Given the description of an element on the screen output the (x, y) to click on. 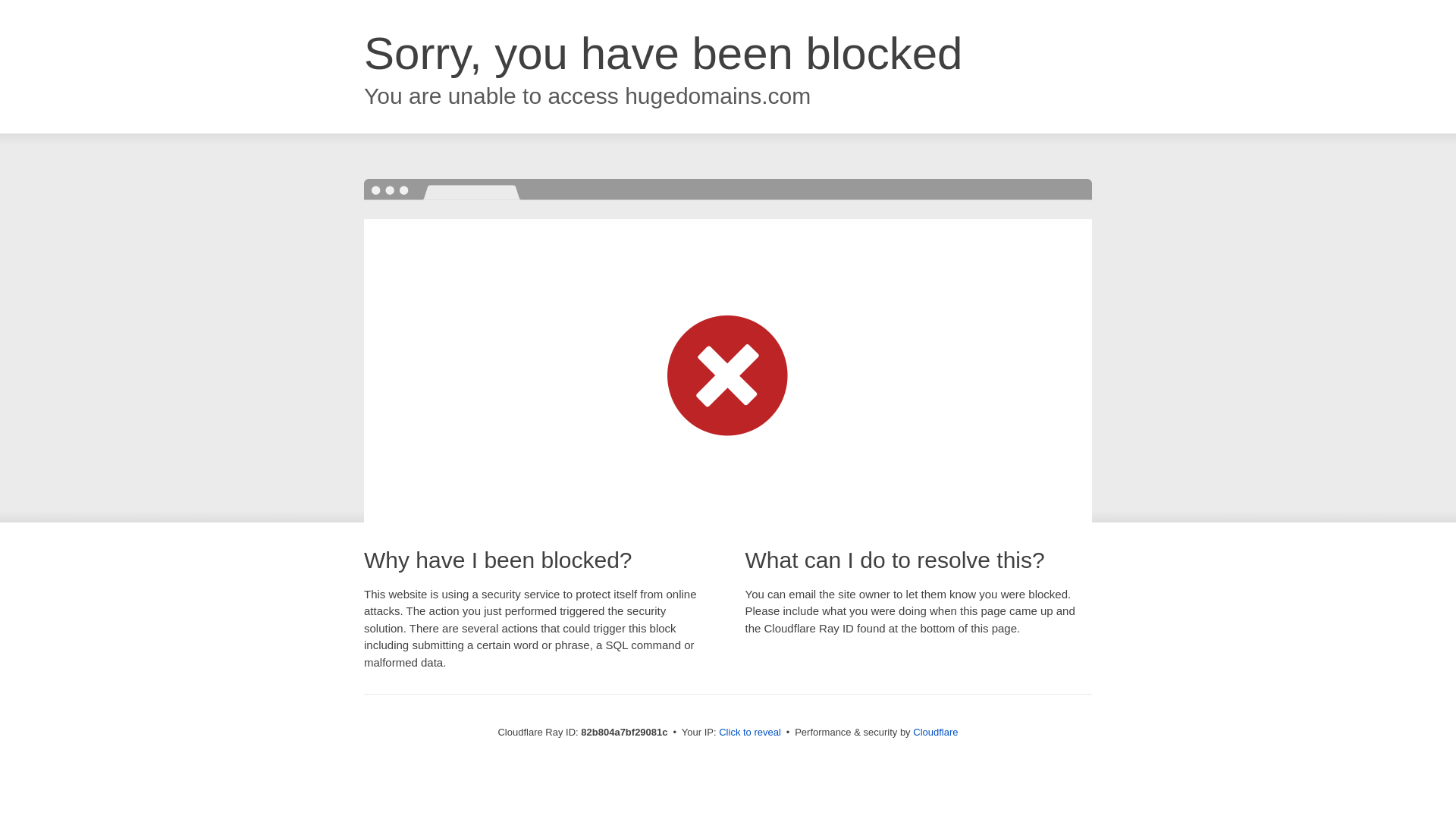
Click to reveal Element type: text (749, 732)
Cloudflare Element type: text (935, 731)
